Given the description of an element on the screen output the (x, y) to click on. 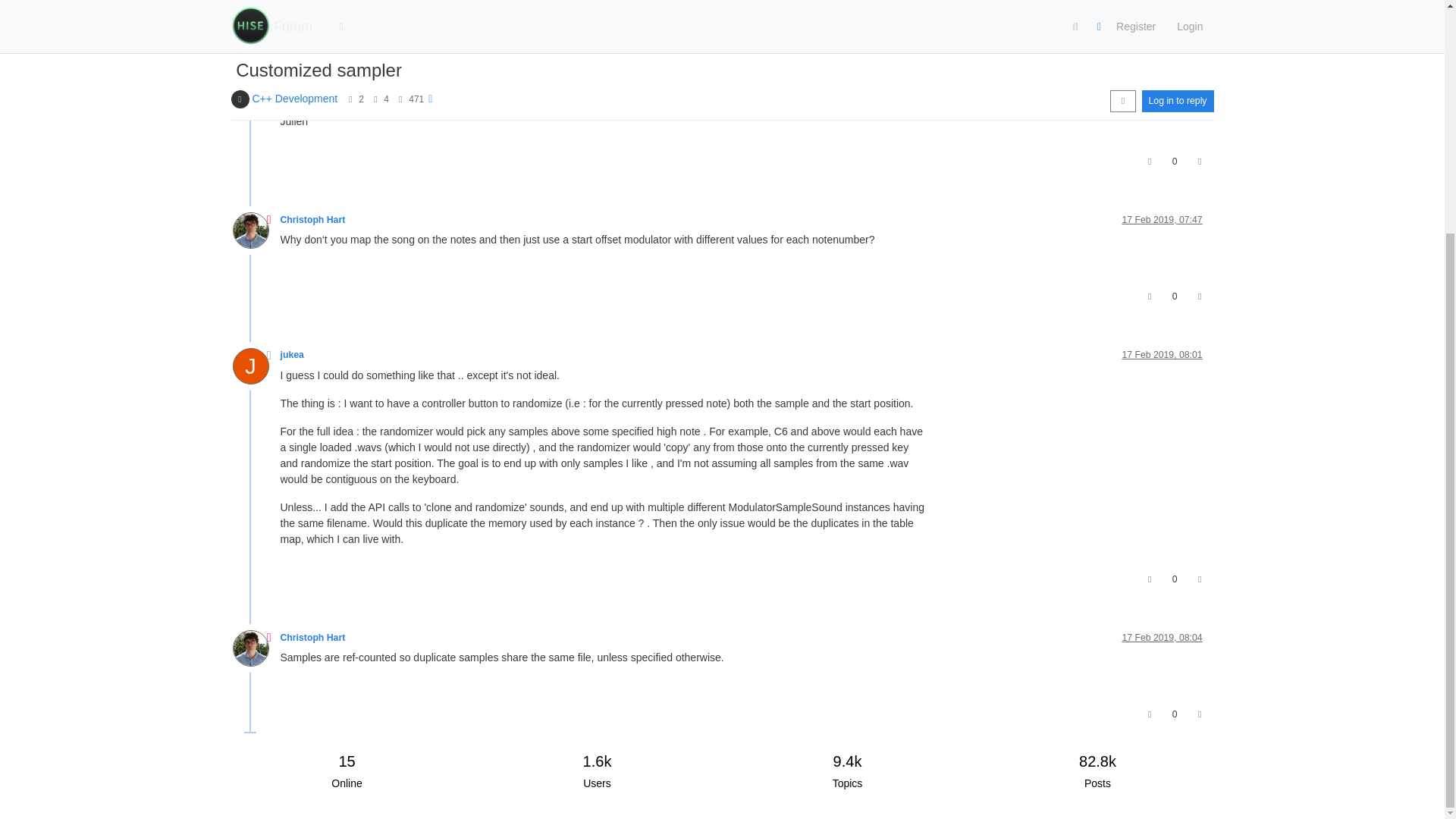
Christoph Hart (313, 219)
